Given the description of an element on the screen output the (x, y) to click on. 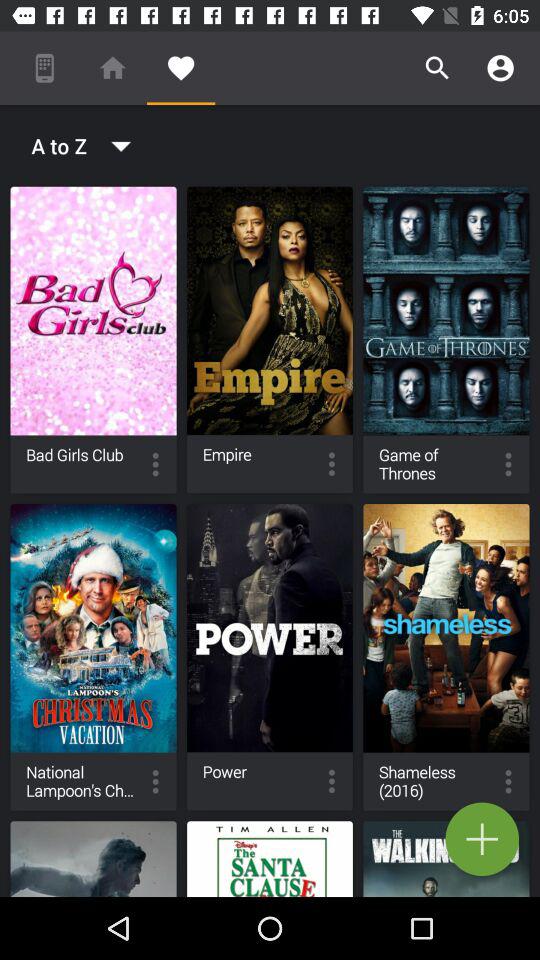
open a to z item (74, 145)
